Given the description of an element on the screen output the (x, y) to click on. 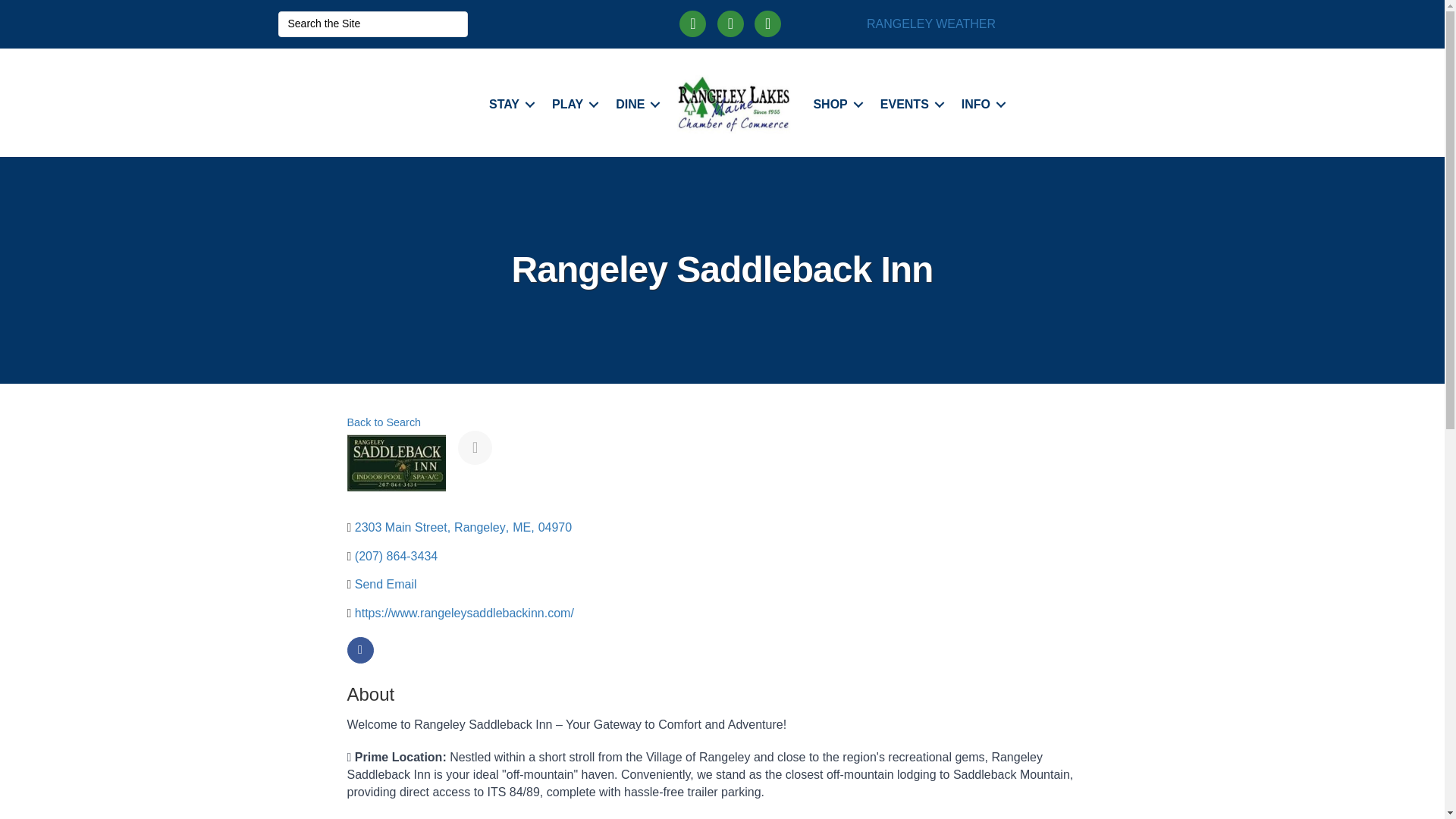
PLAY (572, 104)
INFO (980, 104)
DINE (635, 104)
RANGELEY WEATHER (930, 23)
EVENTS (909, 104)
STAY (509, 104)
SHOP (834, 104)
